Given the description of an element on the screen output the (x, y) to click on. 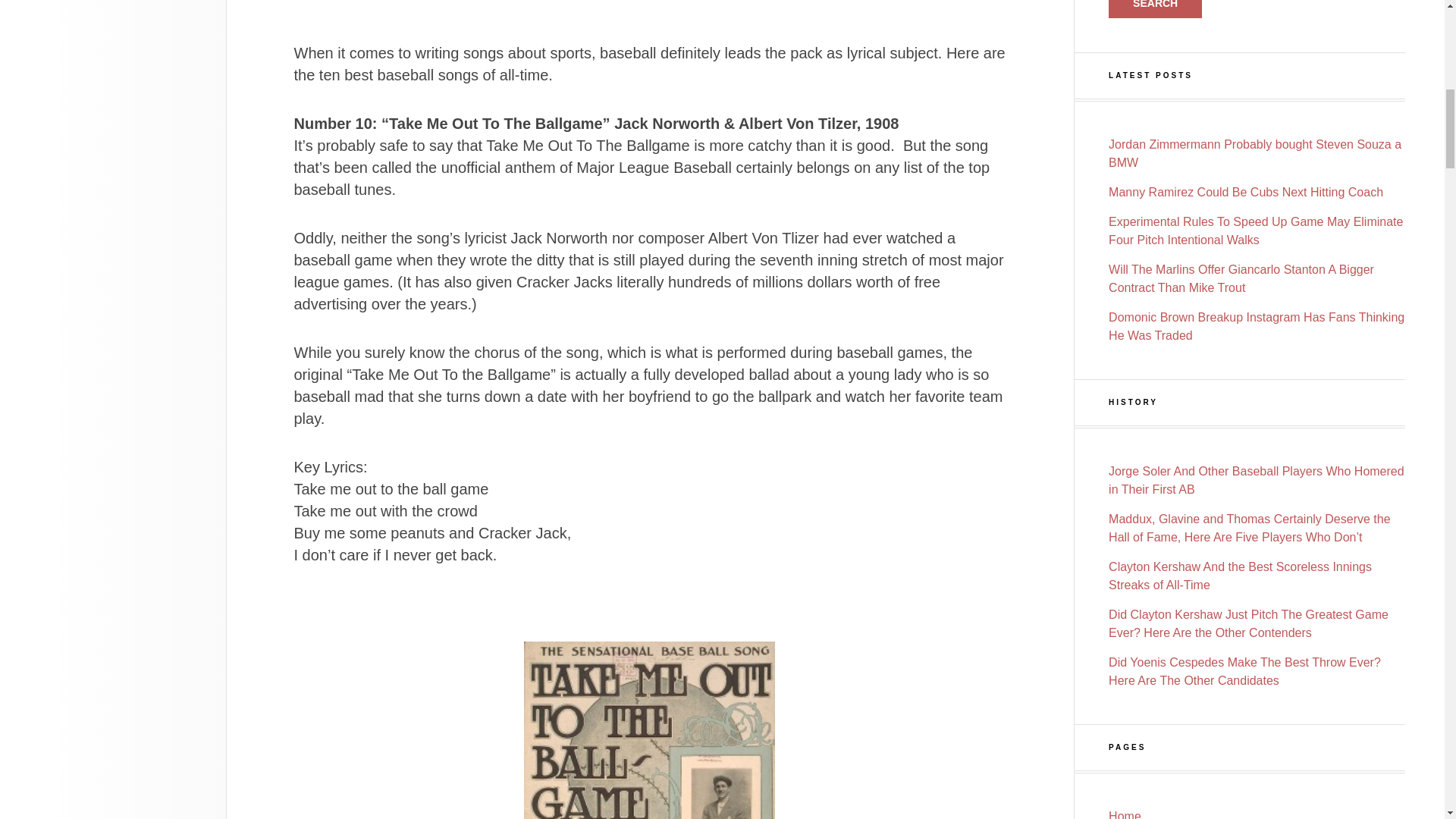
Jordan Zimmermann Probably bought Steven Souza a BMW (1254, 153)
Search (1155, 9)
Manny Ramirez Could Be Cubs Next Hitting Coach (1245, 192)
Search (1155, 9)
